Given the description of an element on the screen output the (x, y) to click on. 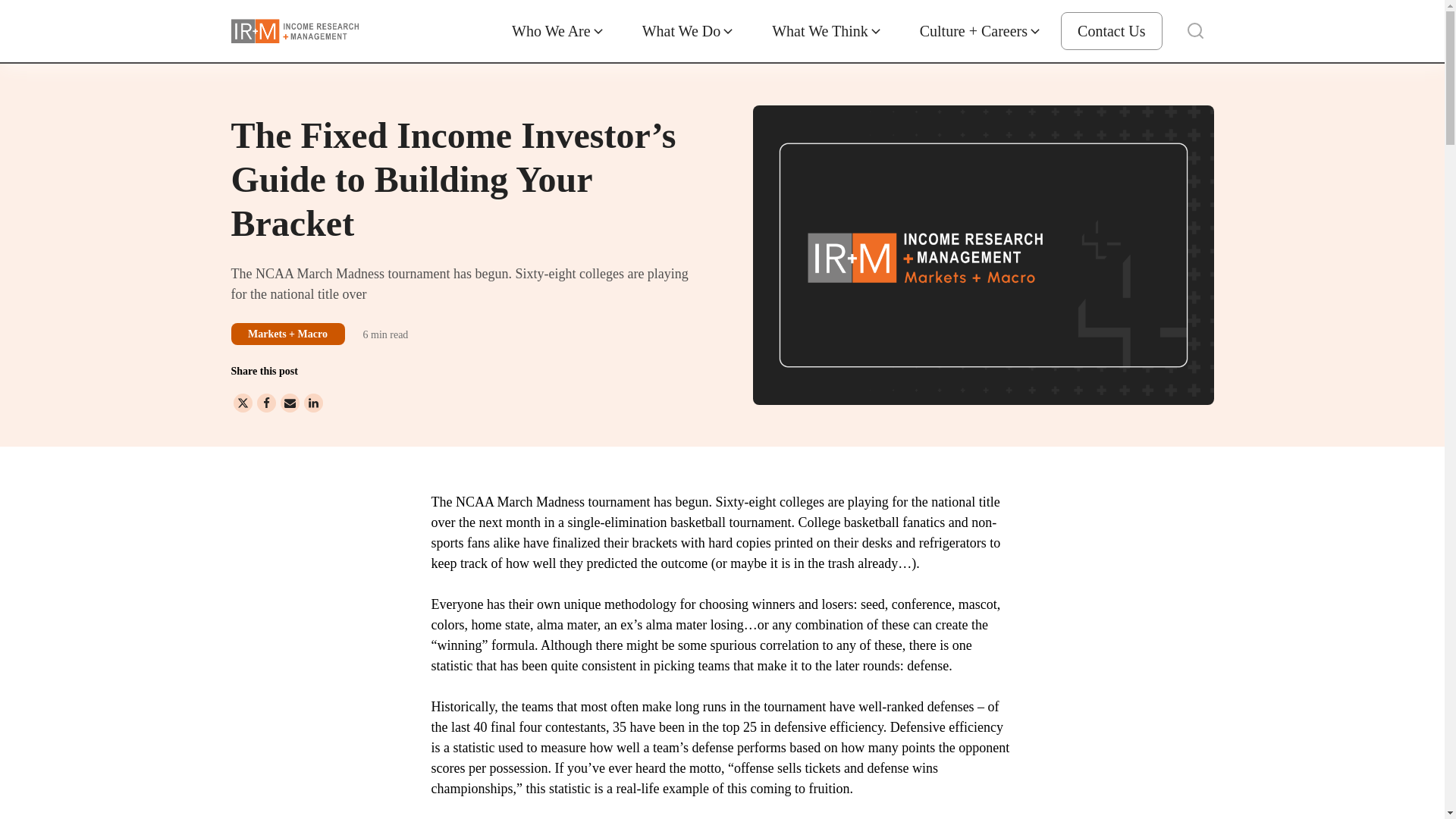
What We Do (689, 30)
Who We Are (558, 30)
